Given the description of an element on the screen output the (x, y) to click on. 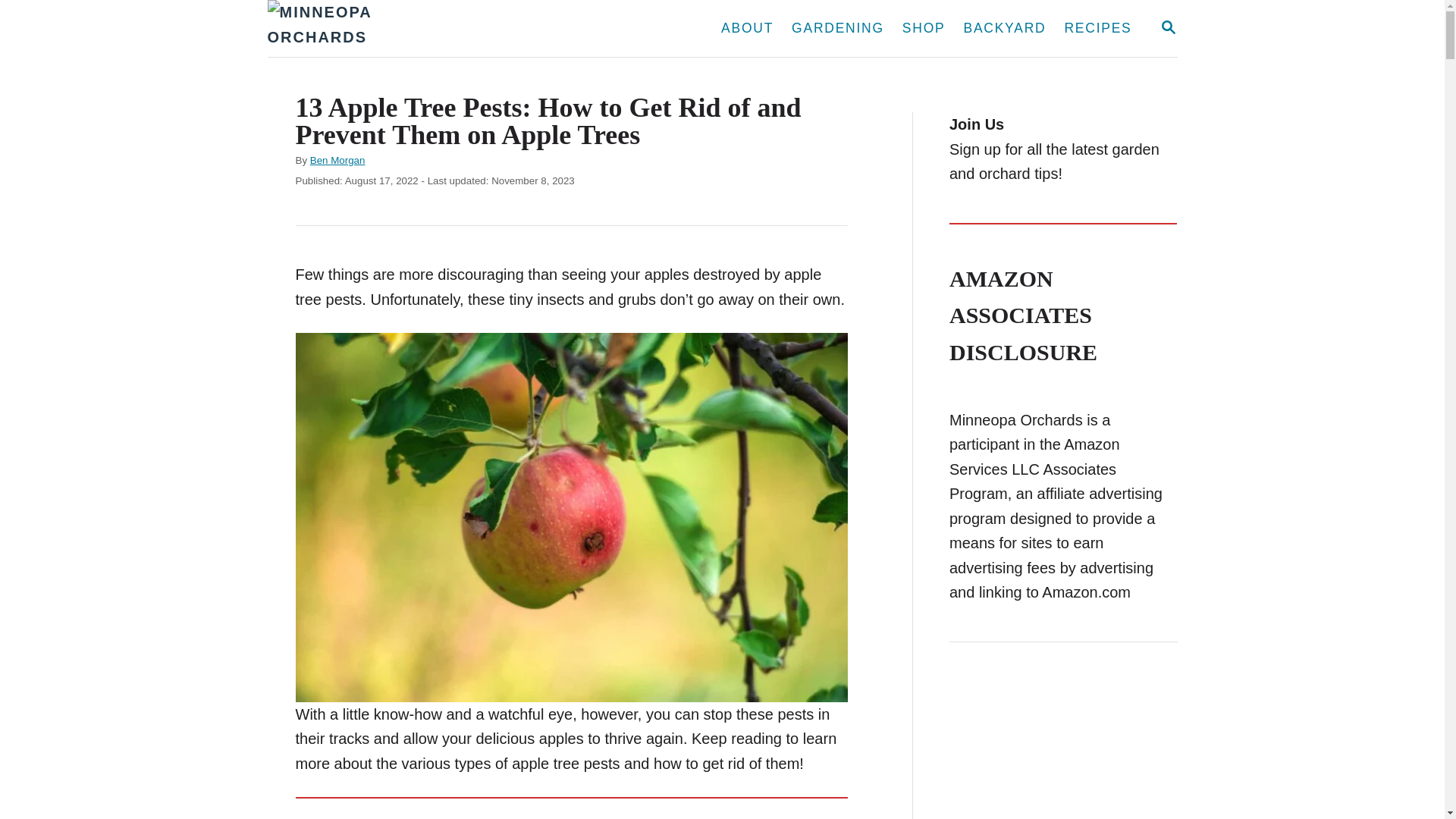
MAGNIFYING GLASS (1167, 27)
ABOUT (747, 28)
GARDENING (1168, 28)
Minneopa Orchards (838, 28)
